Given the description of an element on the screen output the (x, y) to click on. 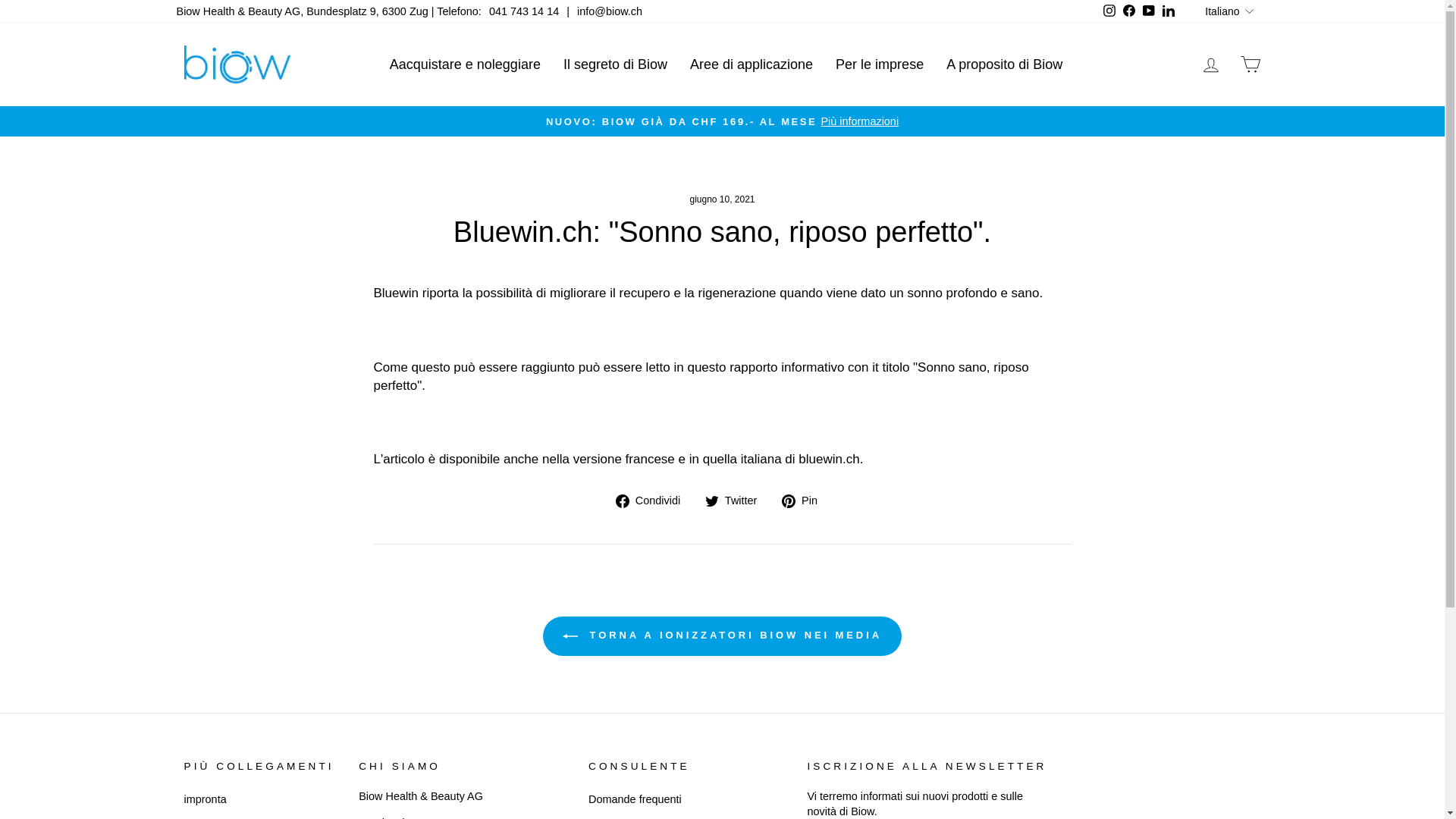
Domande frequenti Element type: text (634, 798)
Salta al contenuto Element type: text (0, 0)
info@biow.ch Element type: text (609, 11)
impronta Element type: text (204, 798)
Aacquistare e noleggiare Element type: text (465, 64)
Pin
Pin su Pinterest Element type: text (804, 500)
Condividi
Condividi su Facebook Element type: text (653, 500)
Facebook Element type: text (1129, 11)
TORNA A IONIZZATORI BIOW NEI MEDIA Element type: text (721, 635)
Il segreto di Biow Element type: text (615, 64)
041 743 14 14 Element type: text (523, 11)
Twitter
Tweet su Twitter Element type: text (736, 500)
Aree di applicazione Element type: text (751, 64)
Italiano Element type: text (1230, 11)
LinkedIn Element type: text (1168, 11)
YouTube Element type: text (1148, 11)
Entrare Element type: text (1210, 64)
A proposito di Biow Element type: text (1004, 64)
Instagram Element type: text (1109, 11)
Avventura commerciale Element type: text (1249, 64)
Per le imprese Element type: text (879, 64)
